Given the description of an element on the screen output the (x, y) to click on. 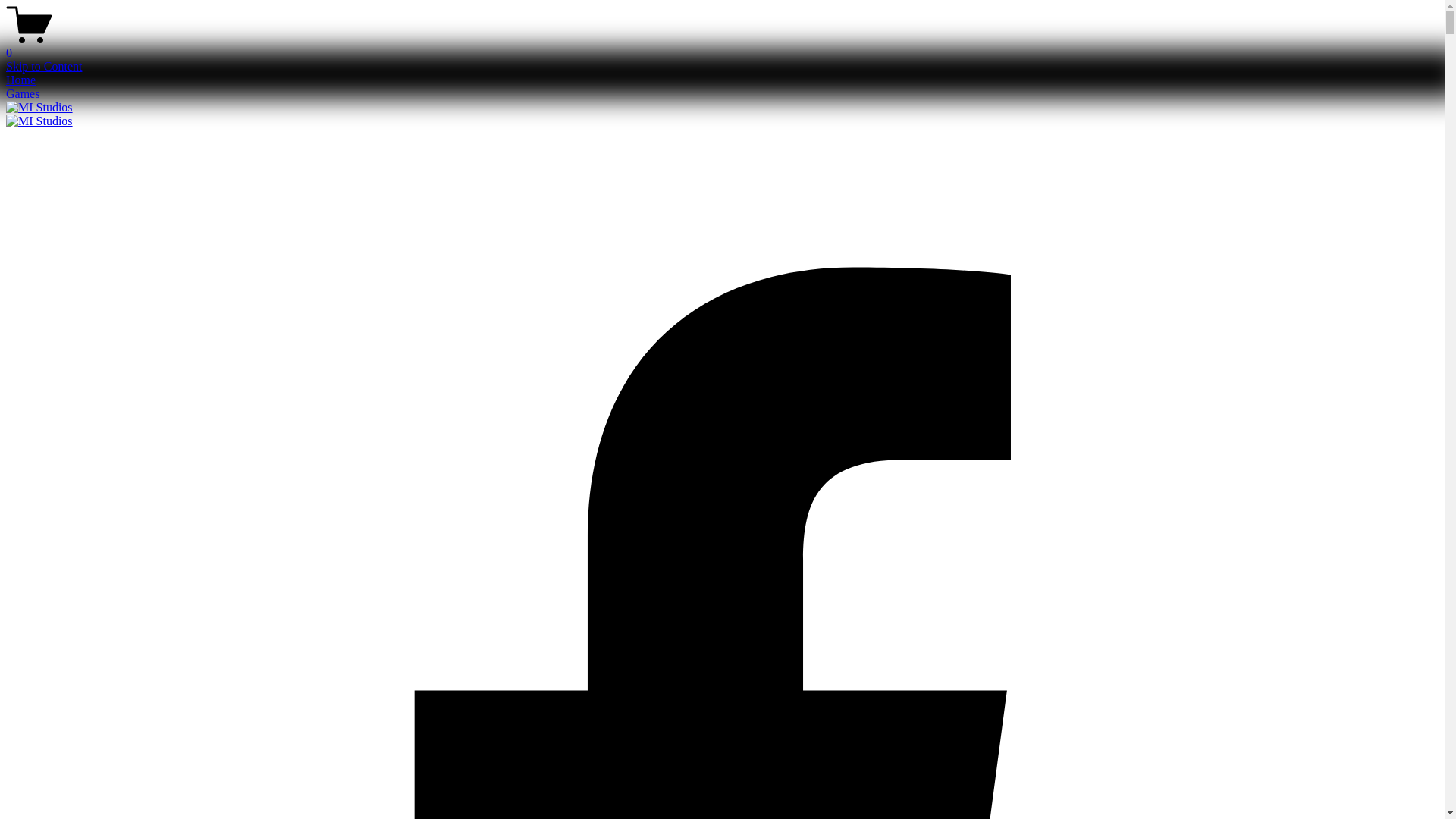
Skip to Content Element type: text (43, 65)
0 Element type: text (722, 45)
Games Element type: text (22, 93)
Home Element type: text (20, 79)
